Given the description of an element on the screen output the (x, y) to click on. 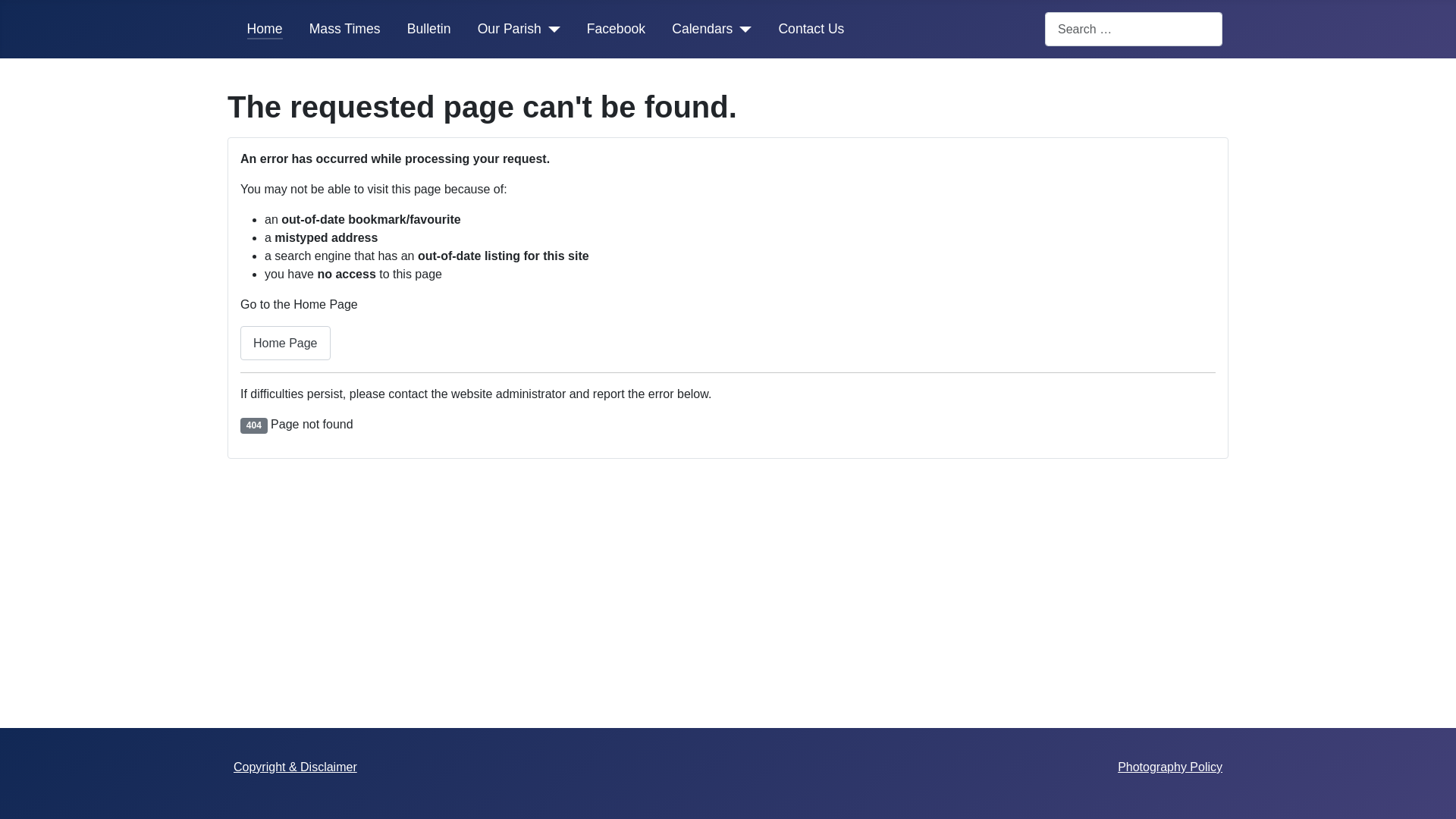
Photography Policy Element type: text (1169, 766)
Facebook Element type: text (615, 28)
Contact Us Element type: text (811, 28)
Home Element type: text (264, 28)
Home Page Element type: text (285, 343)
Mass Times Element type: text (344, 28)
Calendars Element type: text (701, 28)
Our Parish Element type: text (509, 28)
Bulletin Element type: text (429, 28)
Copyright & Disclaimer Element type: text (295, 766)
